Given the description of an element on the screen output the (x, y) to click on. 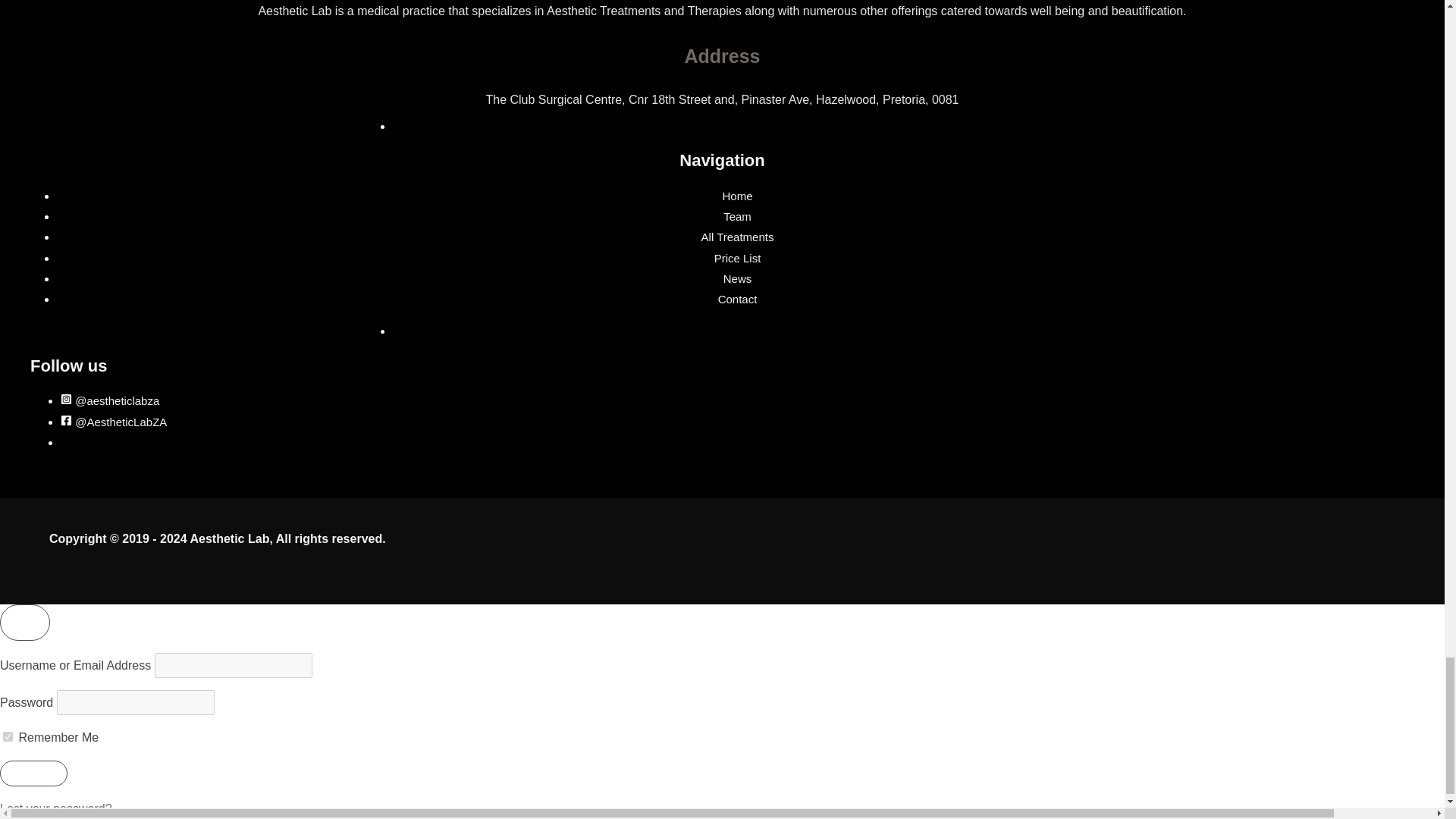
Log In (33, 773)
forever (7, 737)
